Given the description of an element on the screen output the (x, y) to click on. 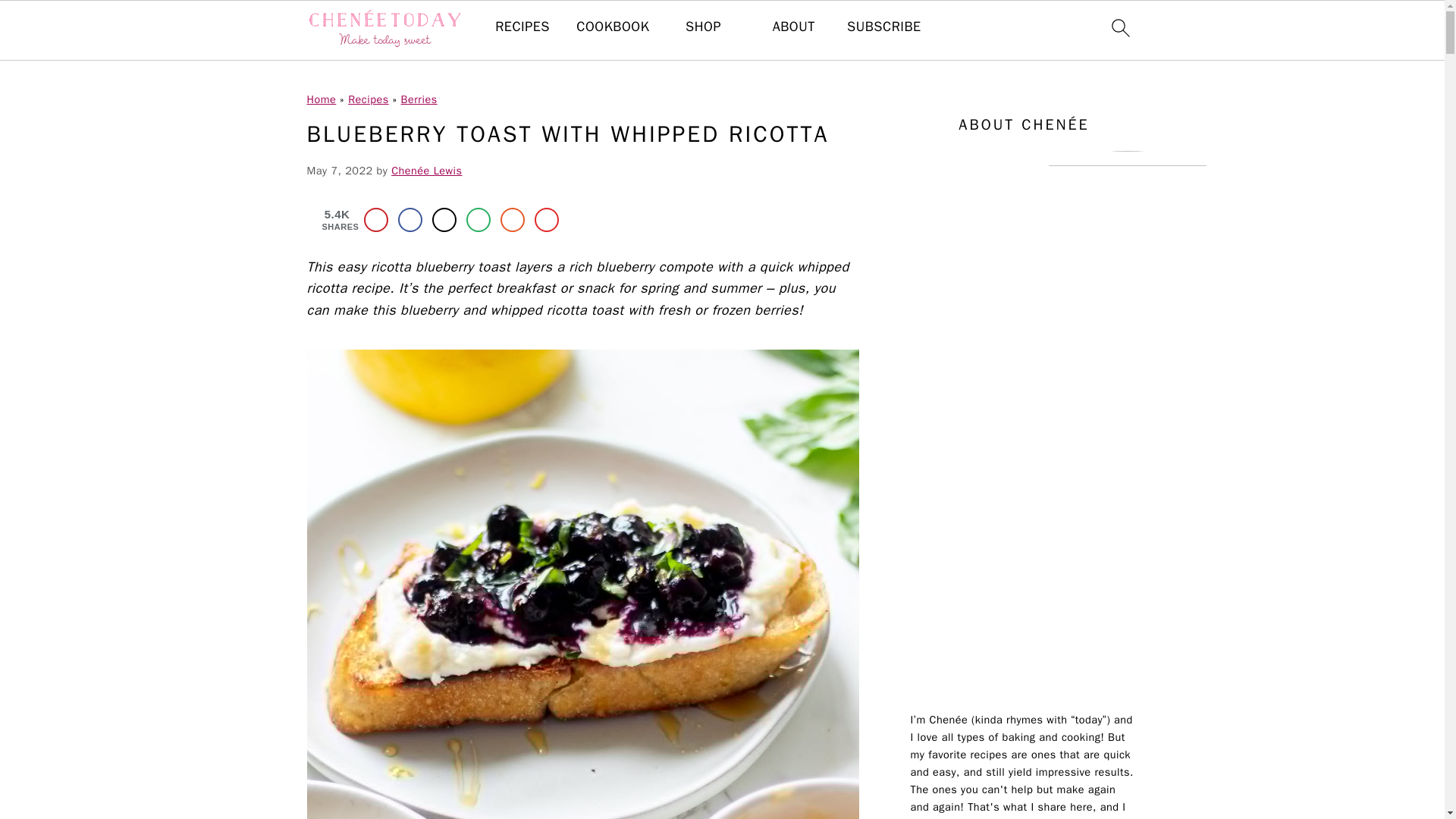
search icon (1119, 27)
Save to Pinterest (376, 219)
Home (320, 99)
Share on Flipboard (546, 219)
Share on Facebook (409, 219)
RECIPES (522, 27)
SUBSCRIBE (884, 27)
Share on Yummly (512, 219)
Recipes (367, 99)
COOKBOOK (612, 27)
Send over email (477, 219)
Share on X (444, 219)
Berries (419, 99)
SHOP (702, 27)
